Given the description of an element on the screen output the (x, y) to click on. 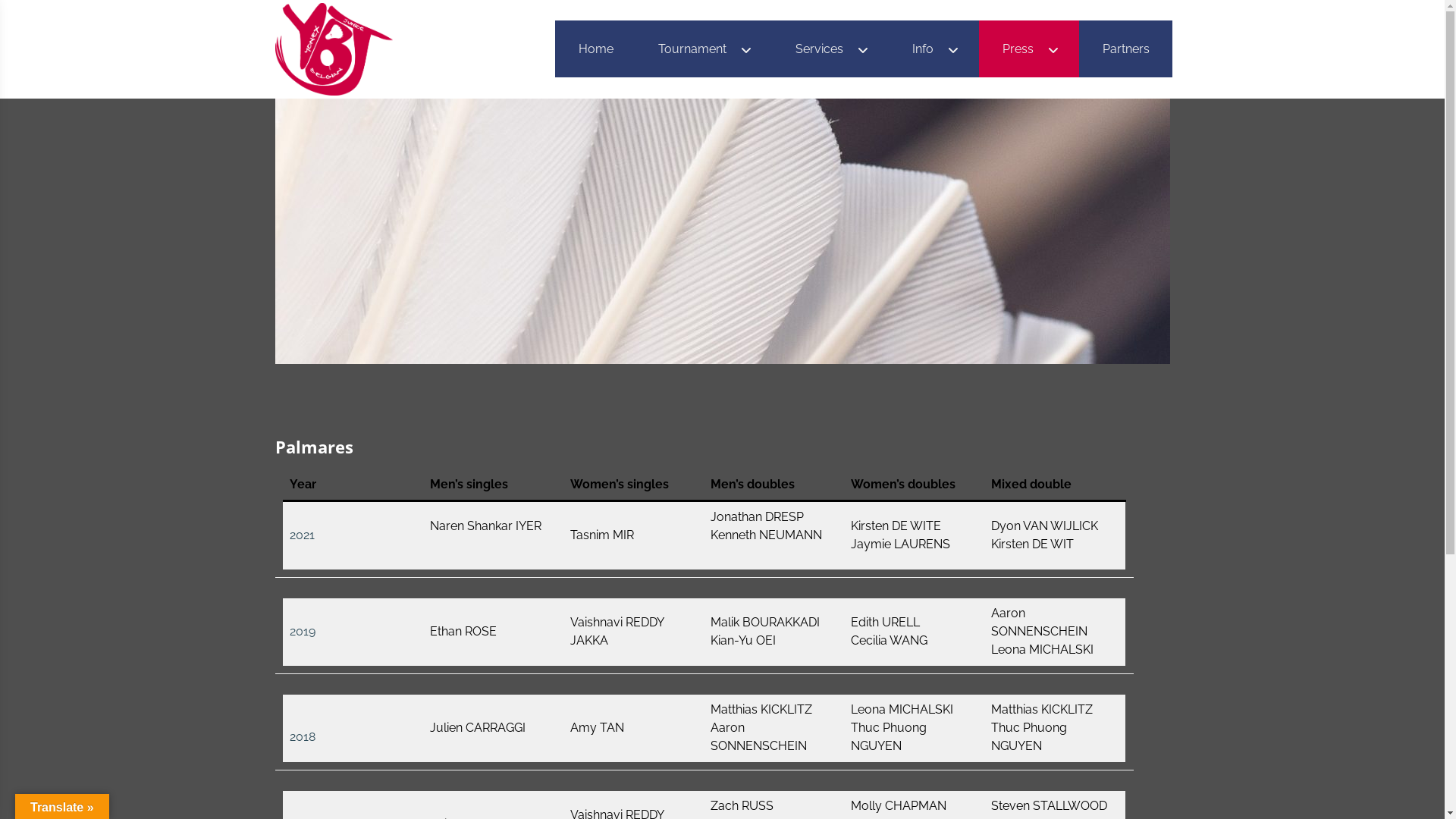
Press Element type: text (1028, 48)
2019 Element type: text (302, 631)
Services Element type: text (830, 48)
Info Element type: text (934, 48)
2018 Element type: text (302, 736)
2021 Element type: text (301, 534)
Partners Element type: text (1124, 48)
Tournament Element type: text (702, 48)
Home Element type: text (595, 48)
